Given the description of an element on the screen output the (x, y) to click on. 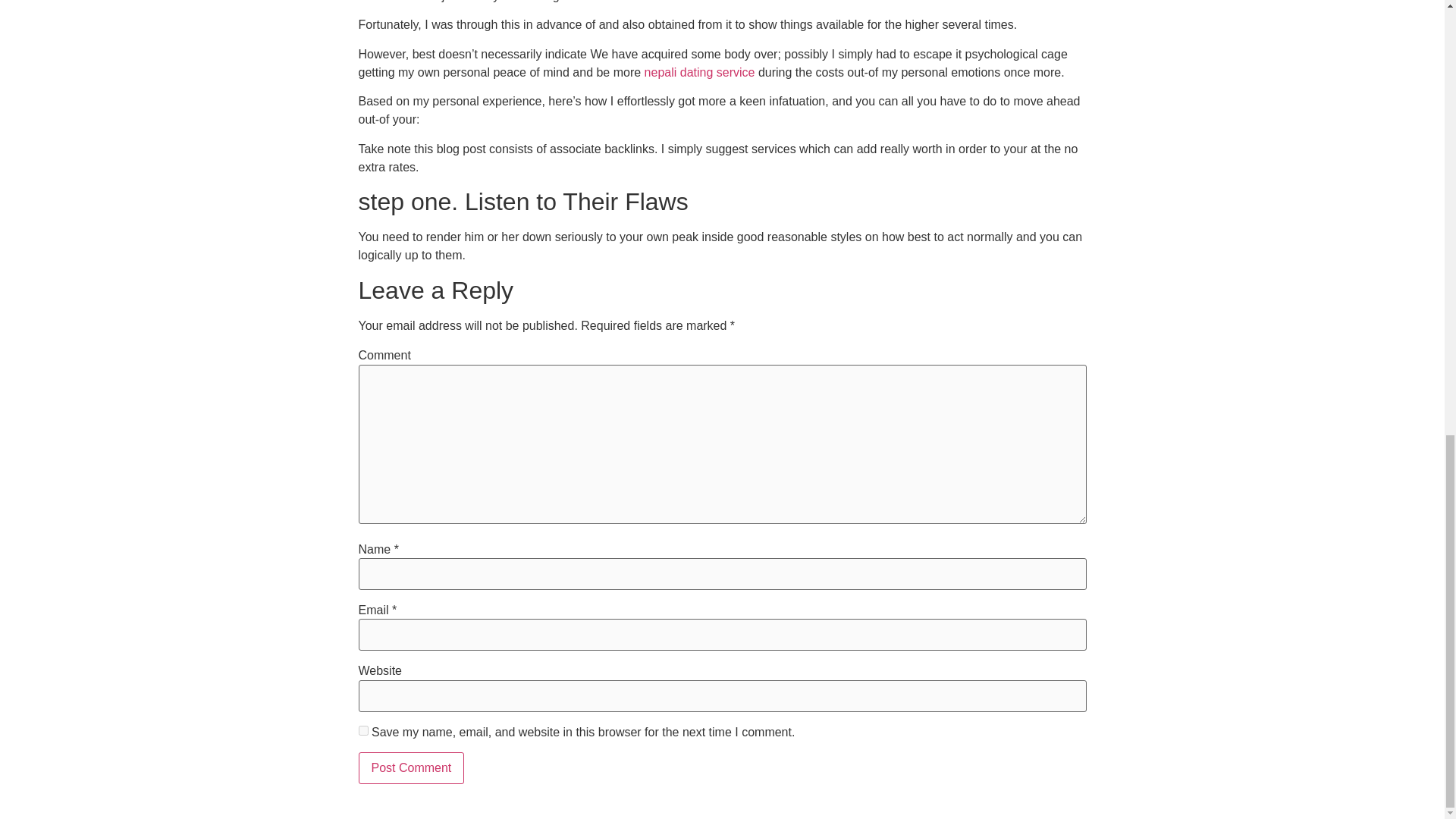
Post Comment (411, 767)
yes (363, 730)
Post Comment (411, 767)
nepali dating service (700, 72)
